Given the description of an element on the screen output the (x, y) to click on. 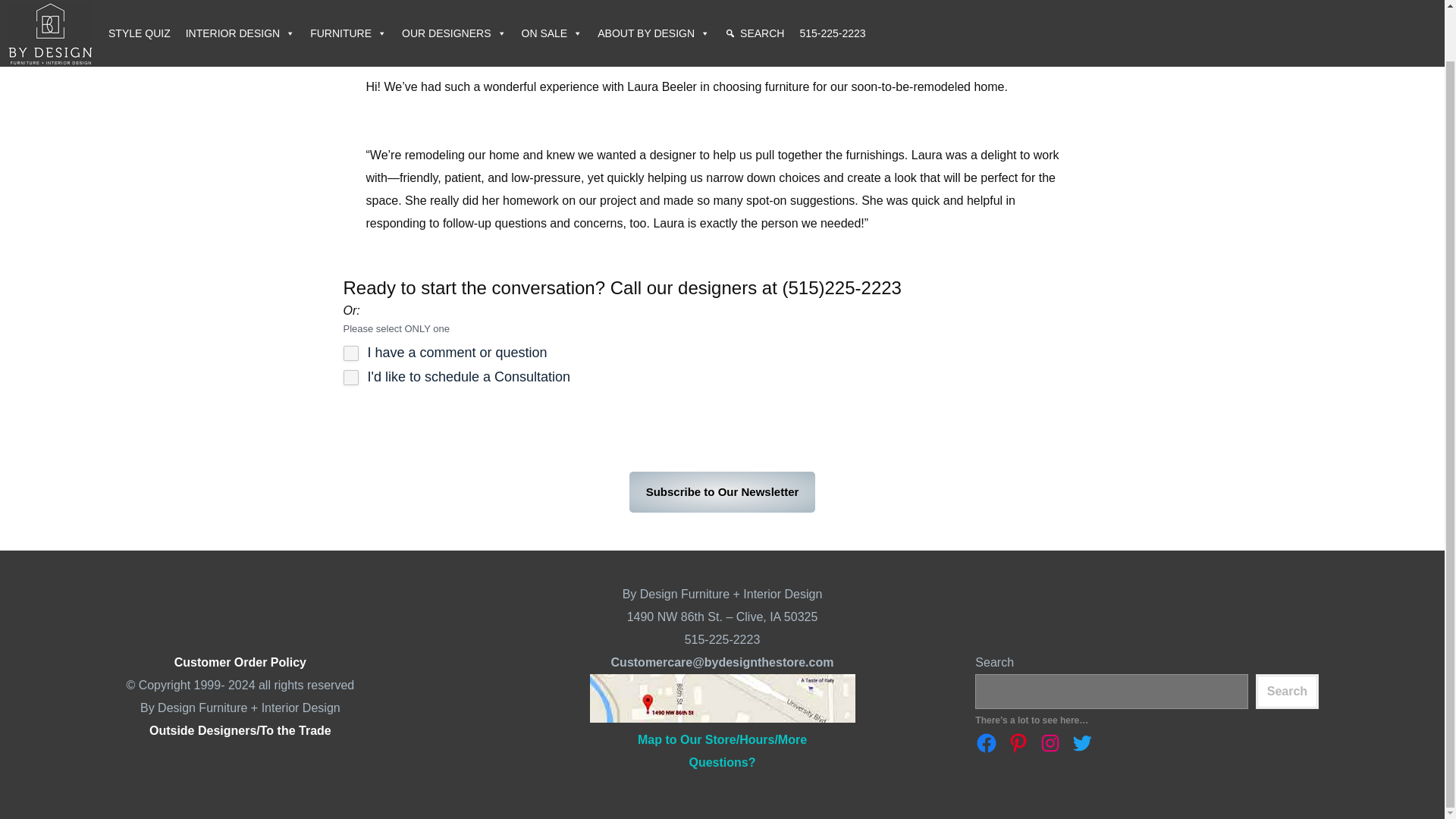
INTERIOR DESIGN (239, 5)
STYLE QUIZ (138, 5)
FURNITURE (348, 5)
OUR DESIGNERS (453, 5)
I'd like to schedule a Consultation (350, 377)
I have a comment or question (350, 353)
